Given the description of an element on the screen output the (x, y) to click on. 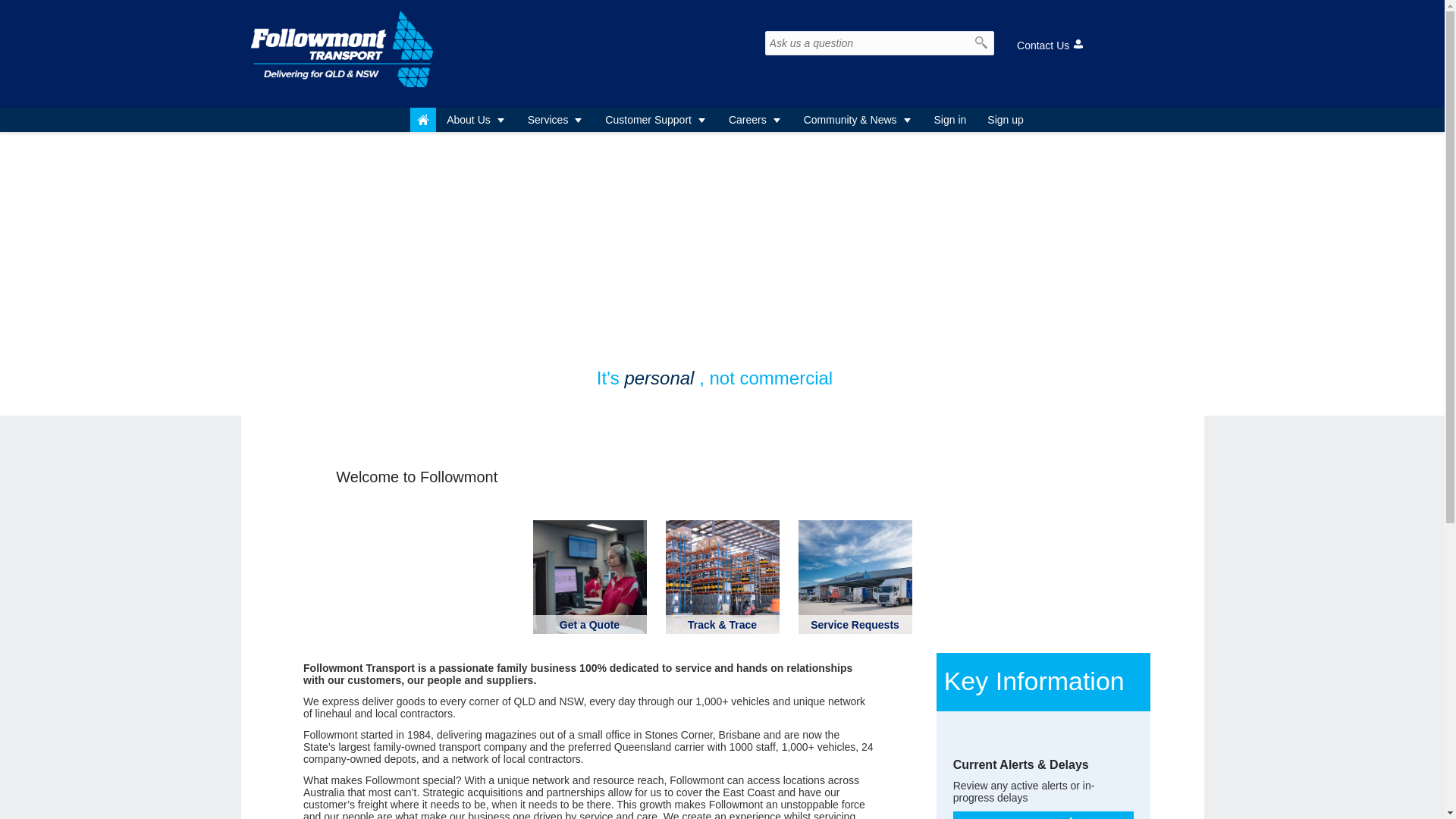
Sign in Element type: text (950, 119)
Get a Quote Element type: text (589, 624)
Button Element type: text (423, 119)
Contact Us Element type: text (1050, 45)
Services Element type: text (556, 119)
Track & Trace Element type: text (721, 624)
Community & News Element type: text (858, 119)
About Us Element type: text (476, 119)
Customer Support Element type: text (656, 119)
Careers Element type: text (755, 119)
Sign up Element type: text (1004, 119)
Service Requests Element type: text (854, 624)
